Given the description of an element on the screen output the (x, y) to click on. 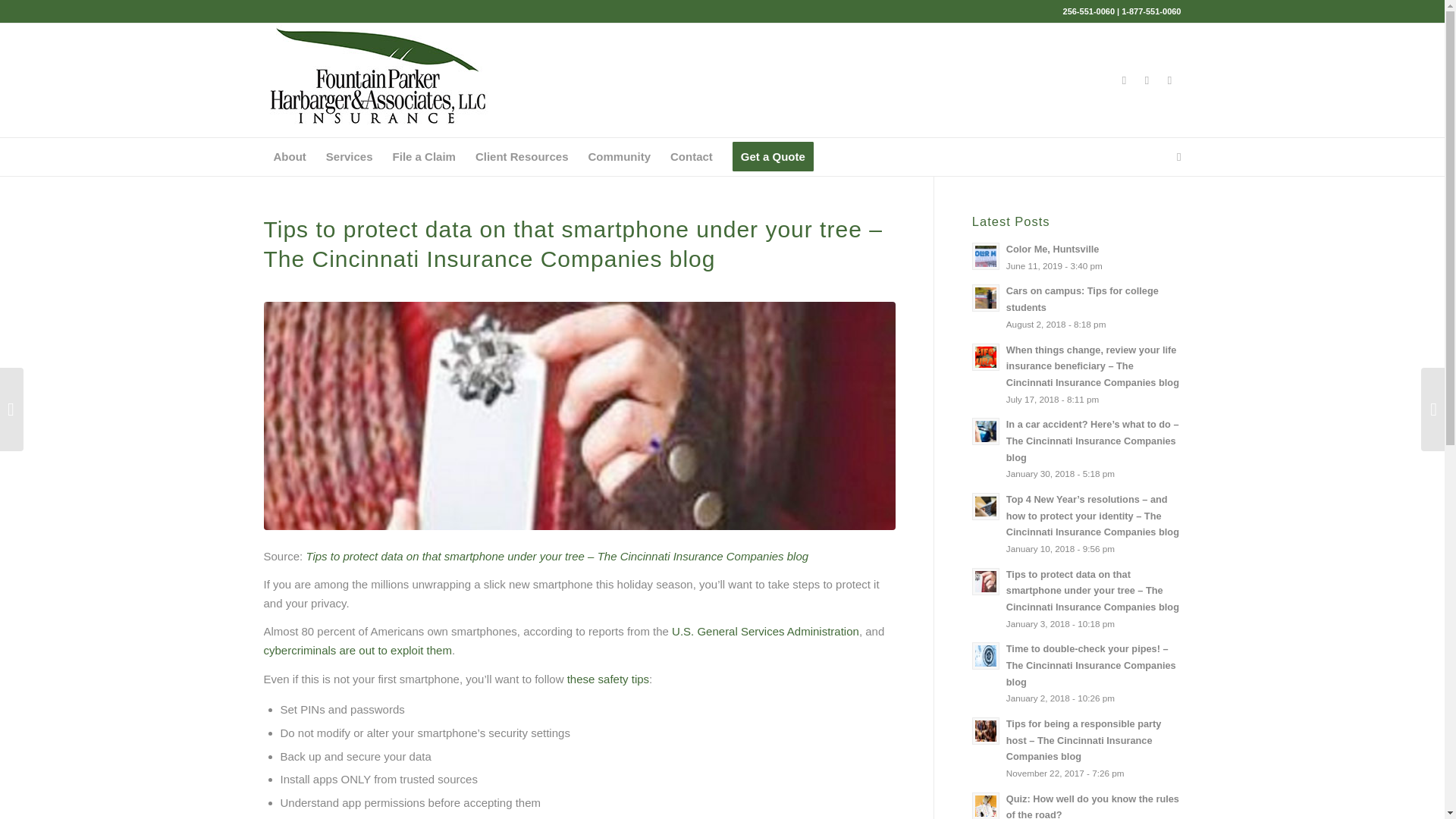
Community (619, 157)
Services (348, 157)
File a Claim (423, 157)
Get a Quote (773, 157)
Twitter (1146, 79)
Client Resources (521, 157)
Facebook (1124, 79)
LinkedIn (1169, 79)
About (289, 157)
Contact (691, 157)
